Given the description of an element on the screen output the (x, y) to click on. 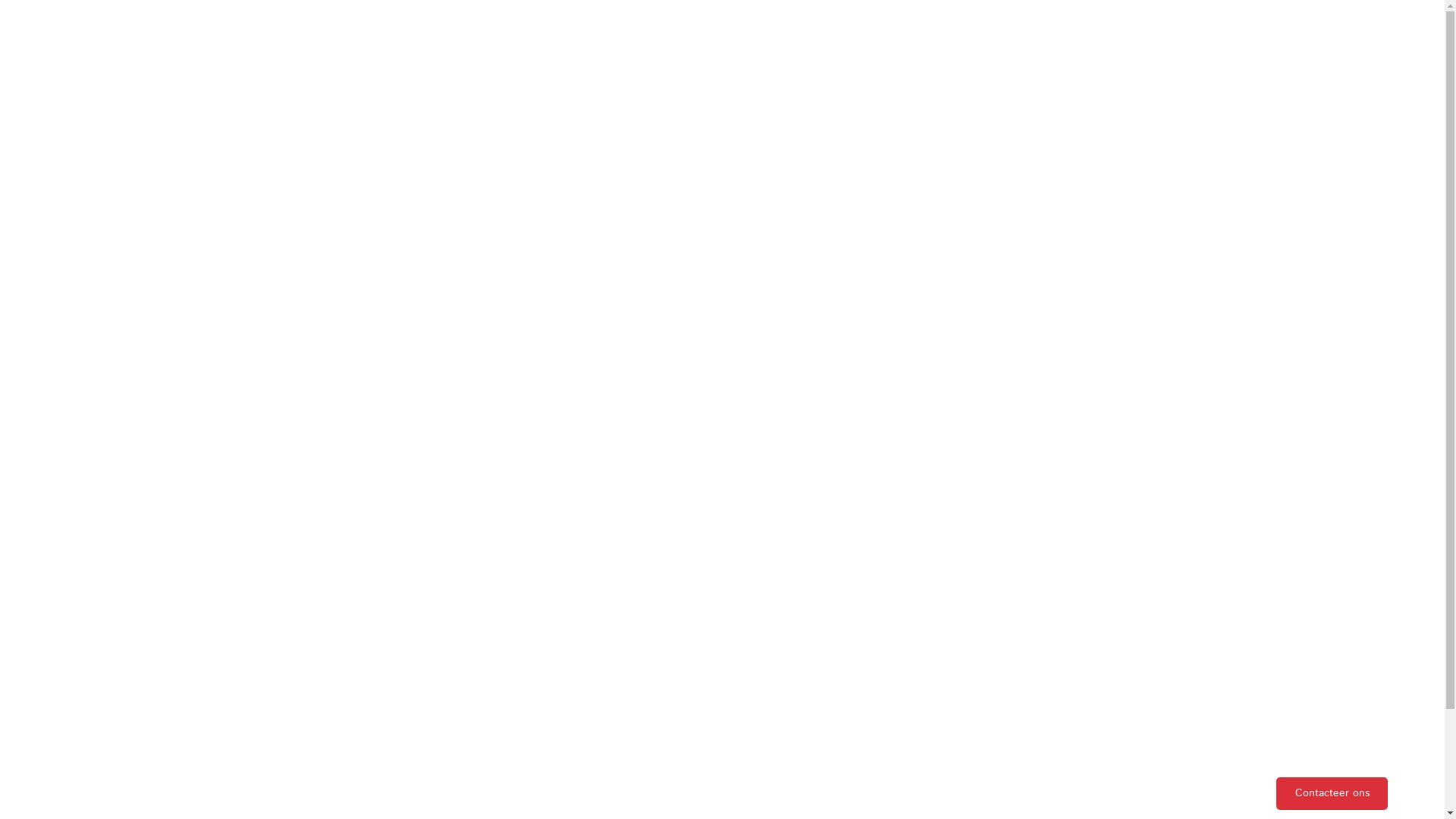
Contacteer ons Element type: text (1331, 793)
